Given the description of an element on the screen output the (x, y) to click on. 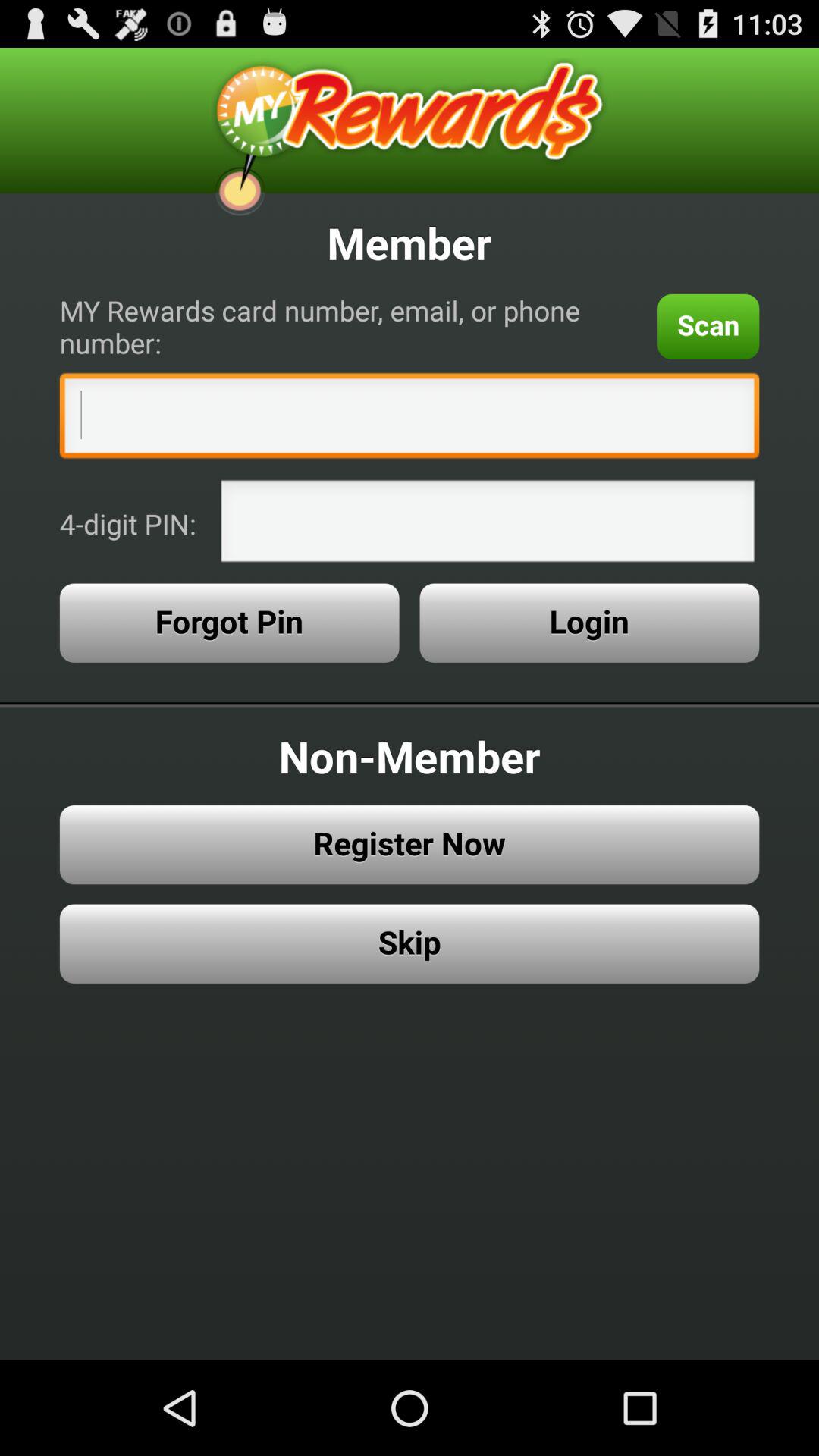
select the item on the right (589, 622)
